Given the description of an element on the screen output the (x, y) to click on. 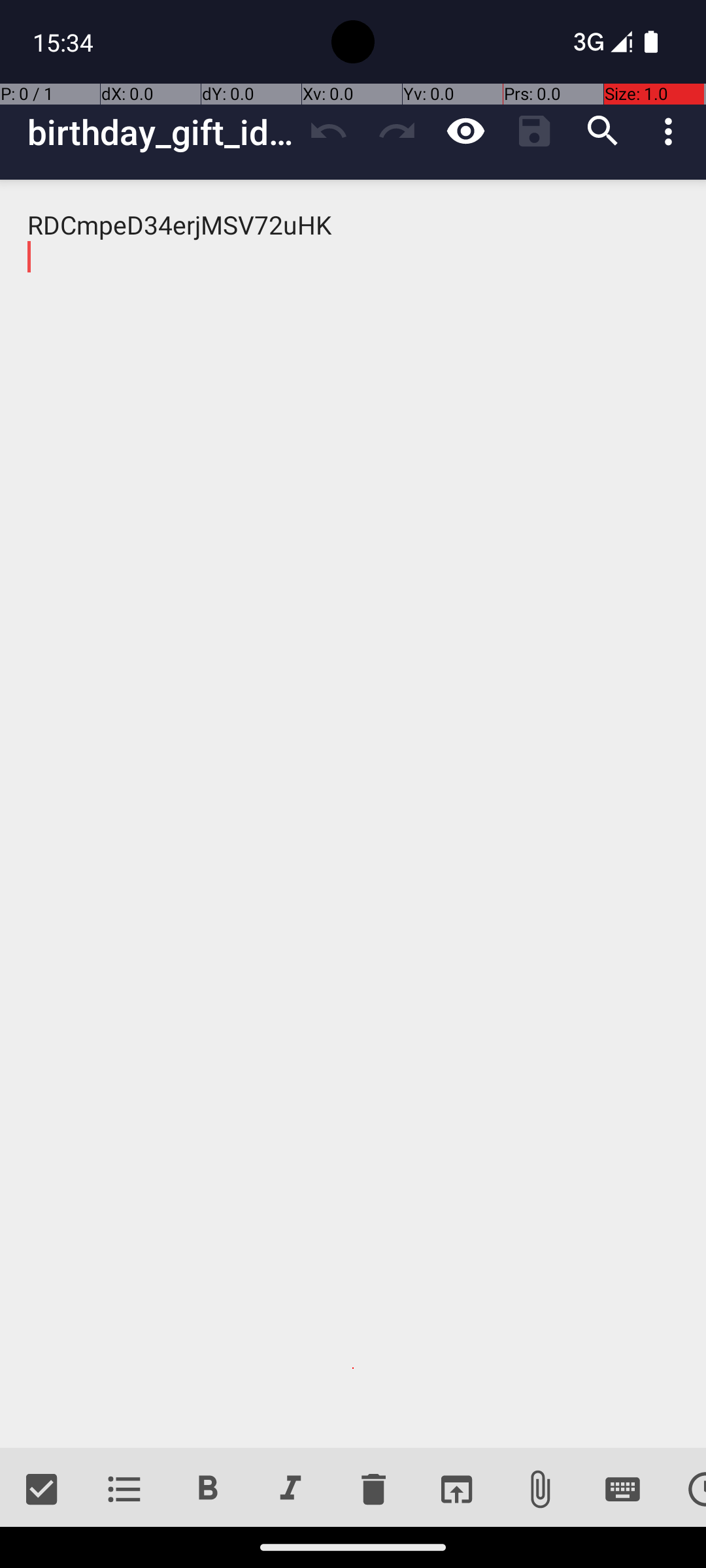
birthday_gift_ideas_mom_2023_05_14 Element type: android.widget.TextView (160, 131)
RDCmpeD34erjMSV72uHK
 Element type: android.widget.EditText (353, 813)
